Given the description of an element on the screen output the (x, y) to click on. 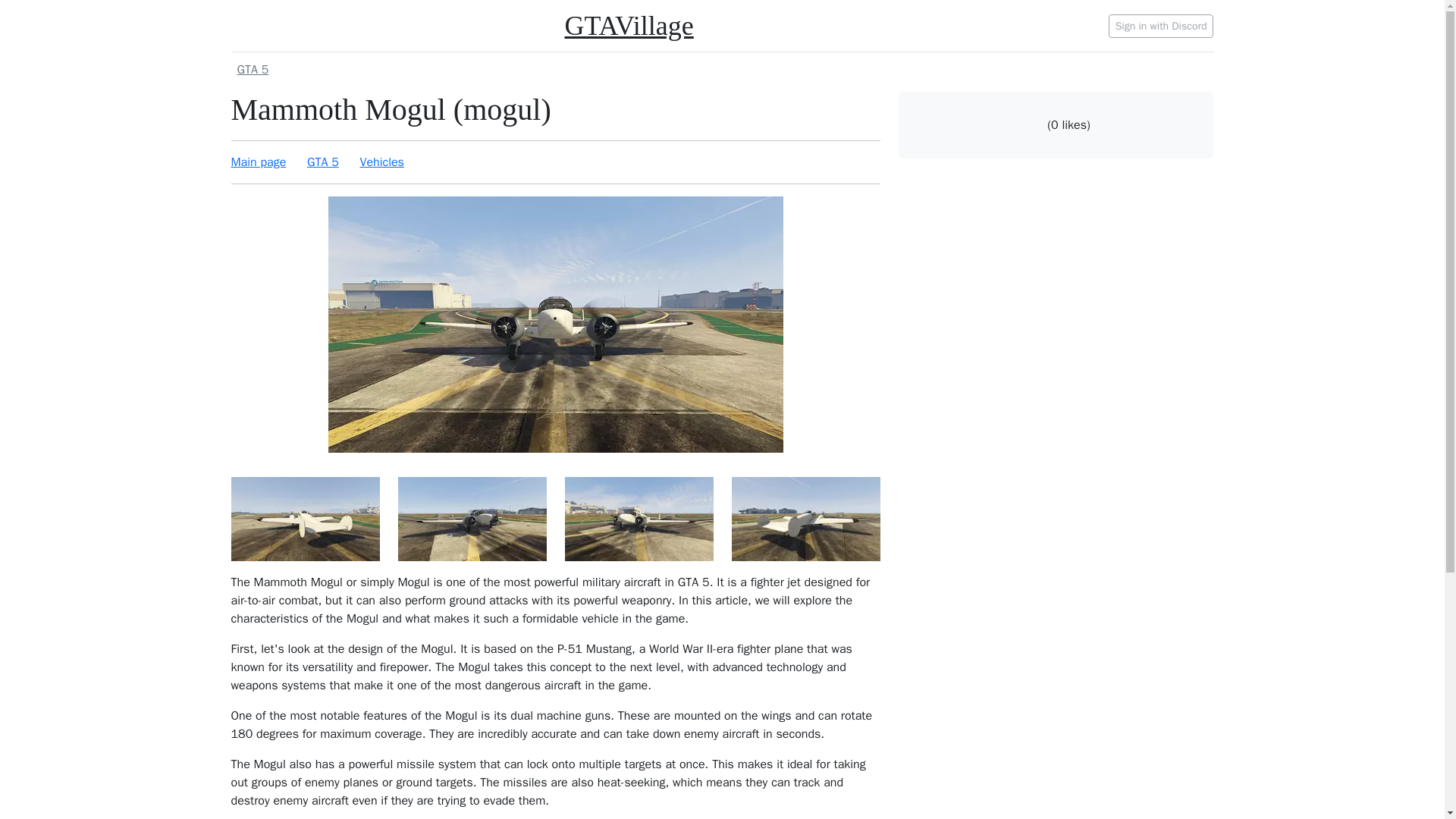
GTA 5 (323, 161)
Vehicles (381, 161)
GTA 5 (721, 68)
Sign in with Discord (1161, 24)
Main page (257, 161)
GTA 5 (252, 69)
GTAVillage (628, 25)
